Given the description of an element on the screen output the (x, y) to click on. 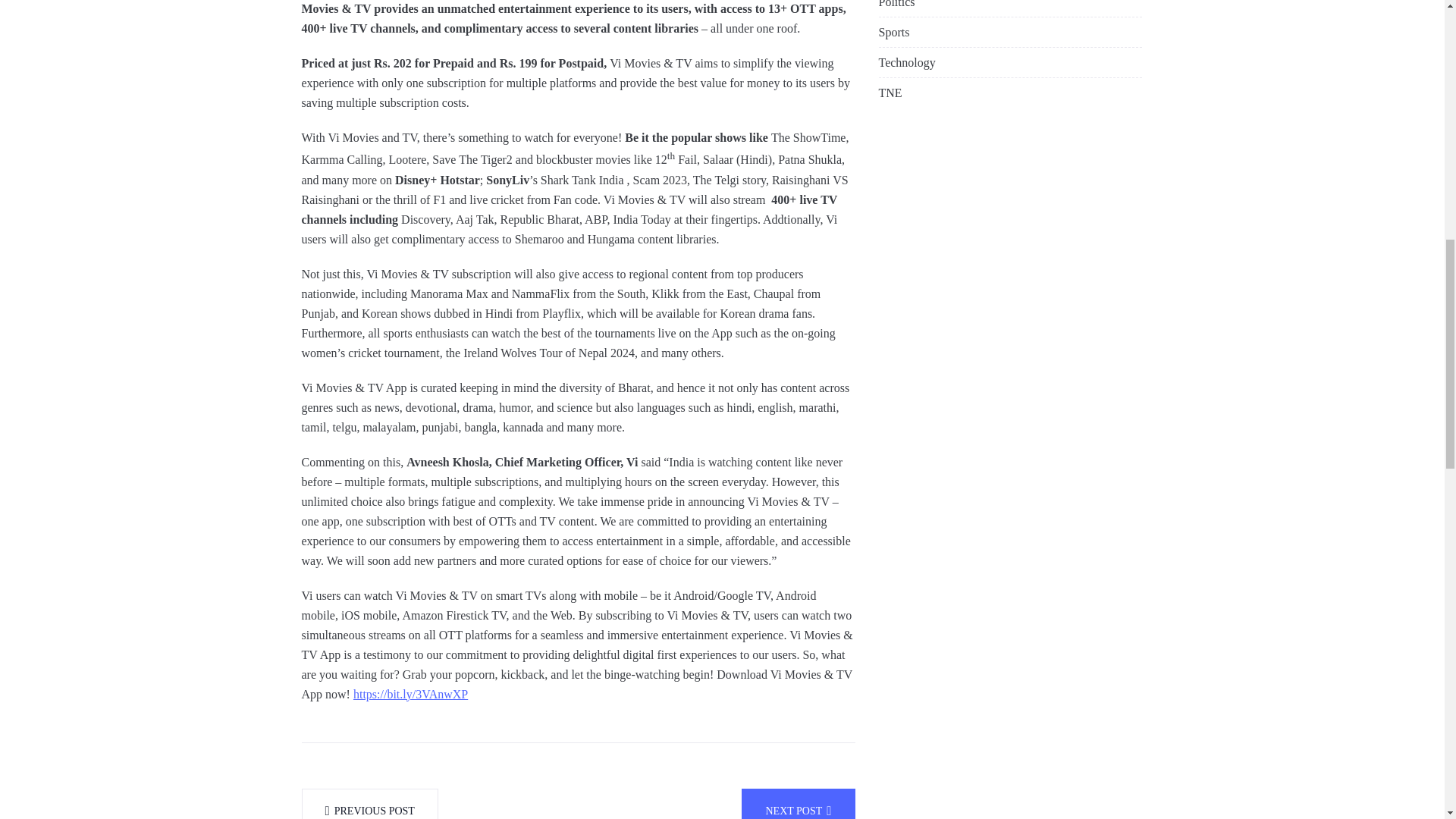
NEXT POST (797, 803)
PREVIOUS POST (369, 803)
